Given the description of an element on the screen output the (x, y) to click on. 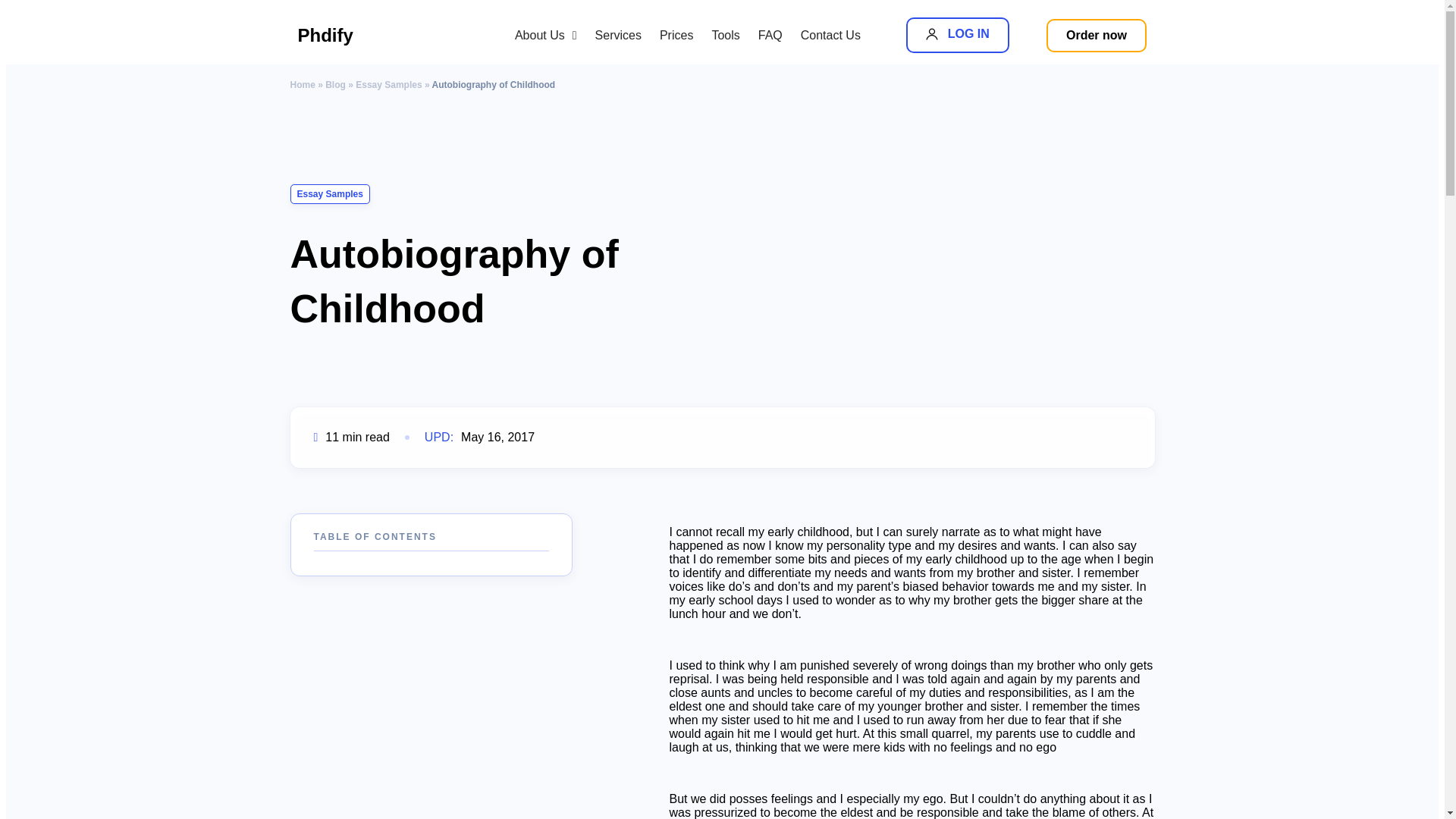
Prices (675, 35)
Order now (1096, 34)
user (931, 33)
Phdify (366, 34)
FAQ (770, 35)
About Us (545, 35)
Services (618, 35)
Contact Us (830, 35)
Tools (957, 35)
